Given the description of an element on the screen output the (x, y) to click on. 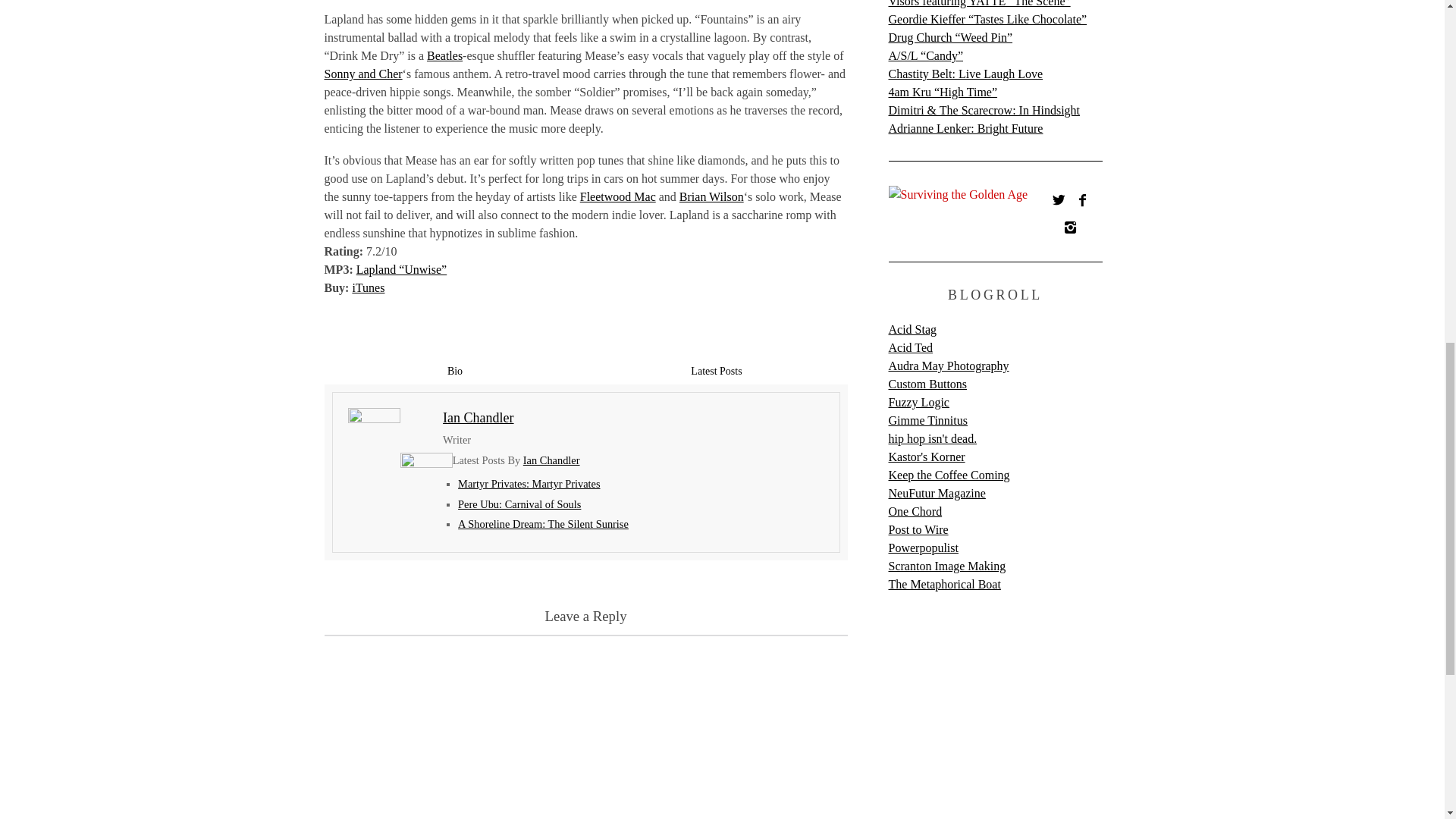
Bio (455, 370)
Fleetwood Mac (617, 196)
iTunes (368, 287)
Beatles (444, 55)
Sonny and Cher (363, 73)
Comment Form (585, 726)
Latest Posts (716, 370)
Brian Wilson (711, 196)
